Given the description of an element on the screen output the (x, y) to click on. 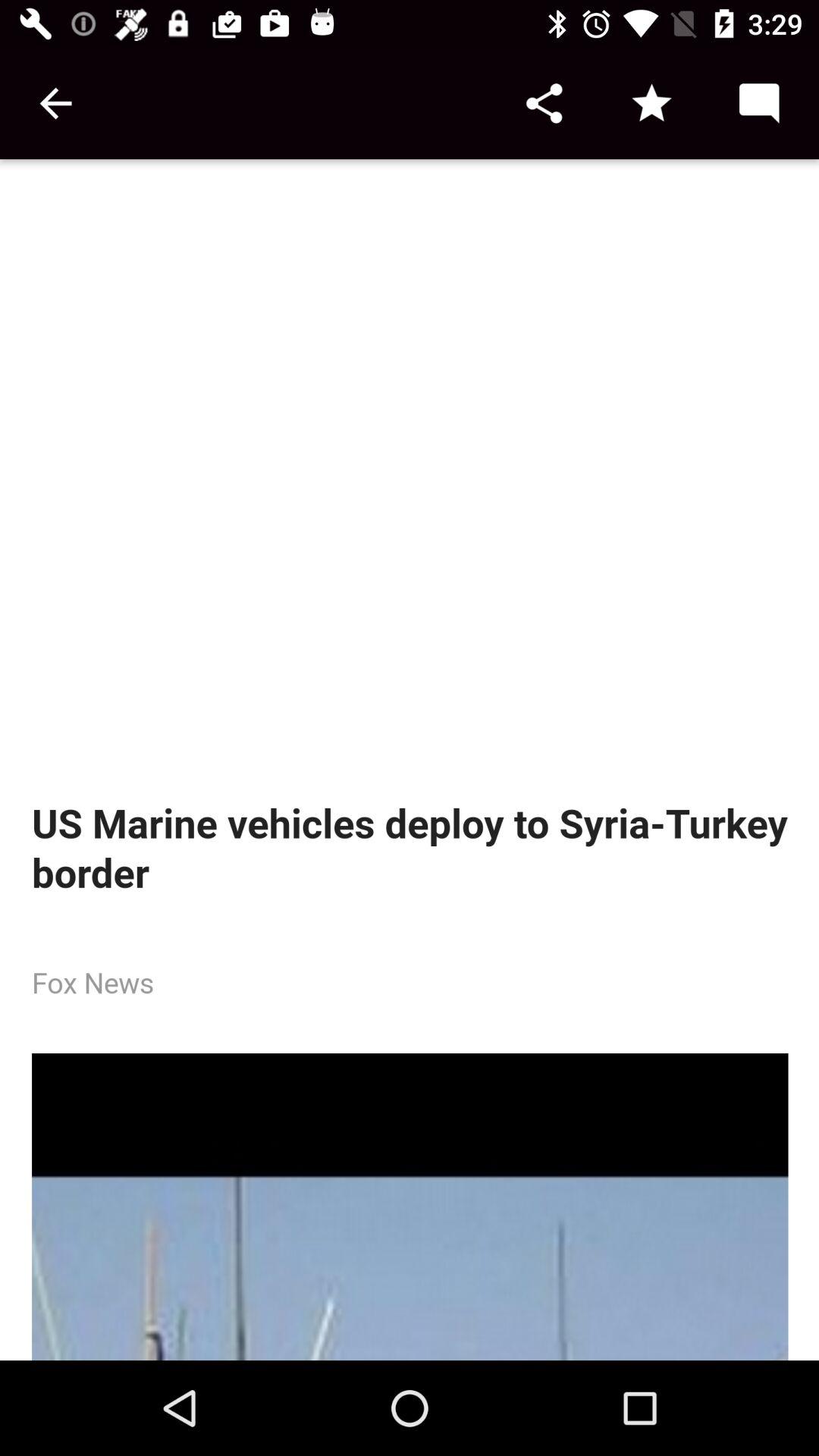
send message (758, 103)
